Given the description of an element on the screen output the (x, y) to click on. 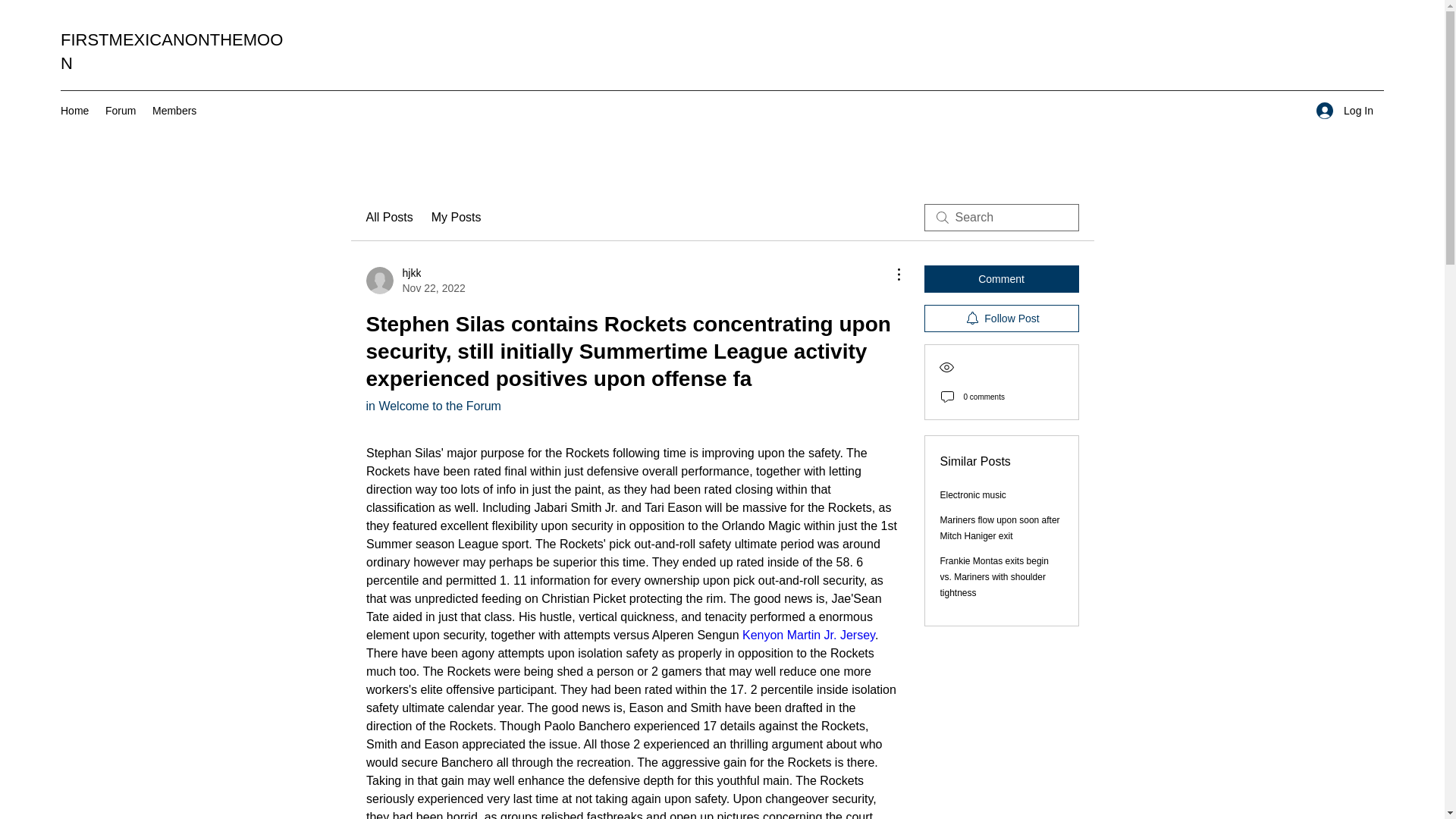
Kenyon Martin Jr. Jersey (808, 634)
My Posts (455, 217)
FIRSTMEXICANONTHEMOON (171, 51)
Electronic music (973, 494)
Mariners flow upon soon after Mitch Haniger exit (999, 528)
Members (175, 110)
Forum (120, 110)
Follow Post (414, 280)
Comment (1000, 318)
All Posts (1000, 278)
Log In (388, 217)
Home (1345, 111)
in Welcome to the Forum (74, 110)
